Given the description of an element on the screen output the (x, y) to click on. 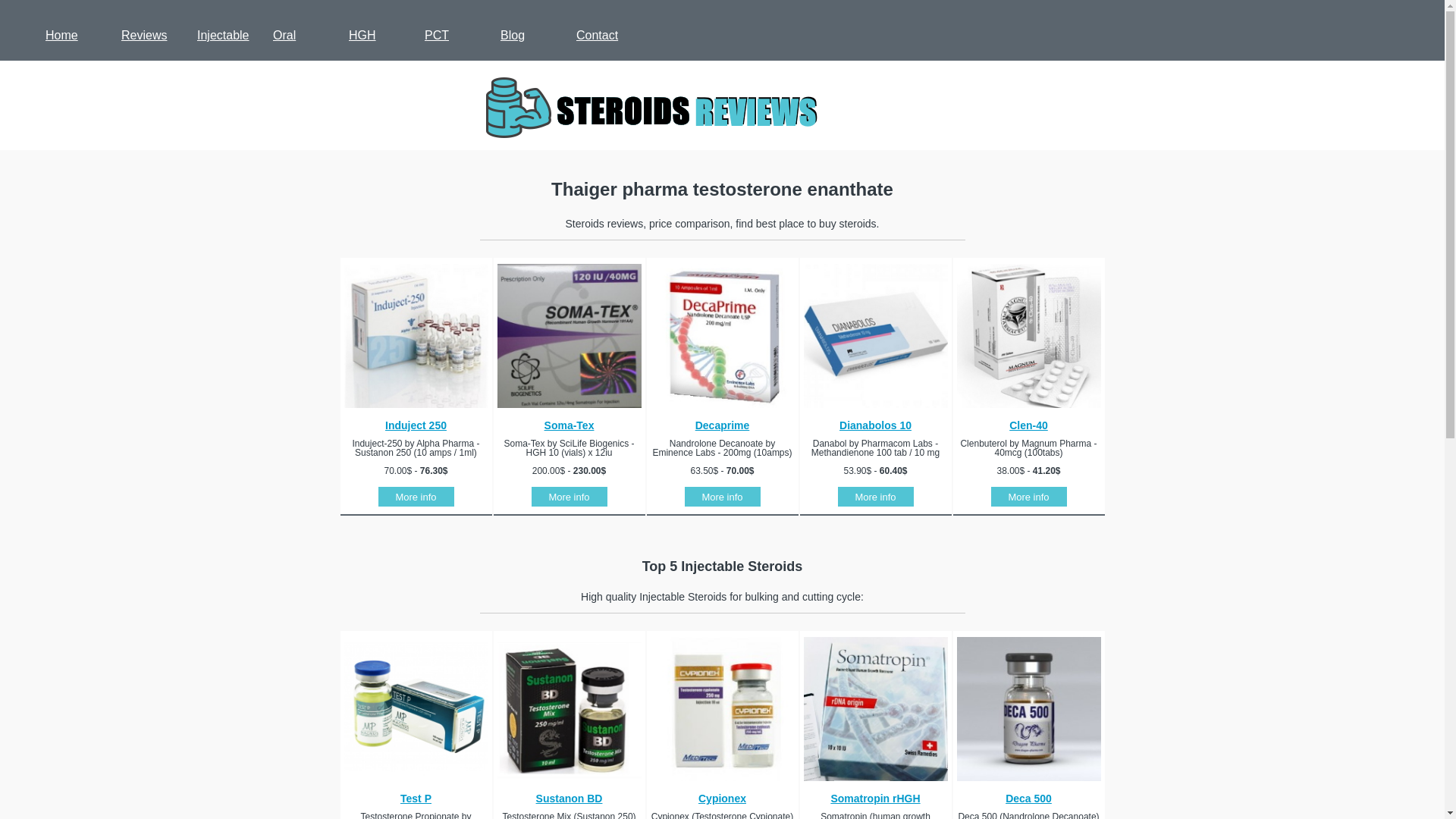
Injectable (223, 35)
More info (414, 496)
Soma-Tex (569, 425)
Cypionex (721, 798)
PCT (436, 35)
More info (1027, 496)
Induject 250 (415, 425)
Deca 500 (1028, 798)
Oral (283, 35)
Decaprime (722, 425)
